Given the description of an element on the screen output the (x, y) to click on. 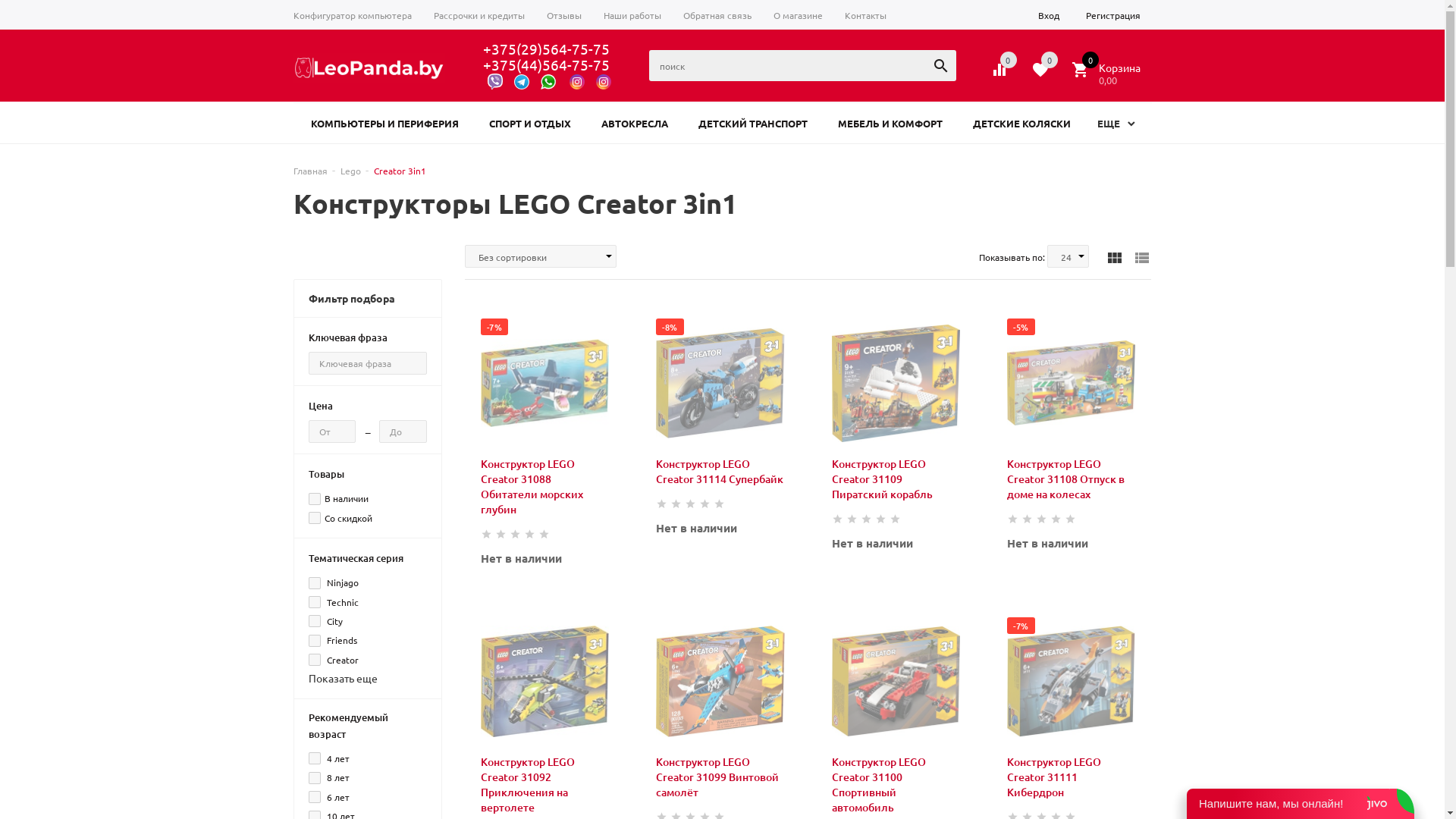
view_list Element type: text (1139, 255)
+375(44)564-75-75 Element type: text (545, 64)
@world_of_pc_ Element type: hover (603, 80)
view_module Element type: text (1112, 255)
24 Element type: text (1067, 255)
+375(29)564-75-75 Element type: text (545, 48)
search Element type: text (940, 65)
Lego Element type: text (349, 170)
equalizer
0 Element type: text (999, 69)
LeoPanda.by Element type: hover (368, 68)
@leopanda.by Element type: hover (575, 80)
